Given the description of an element on the screen output the (x, y) to click on. 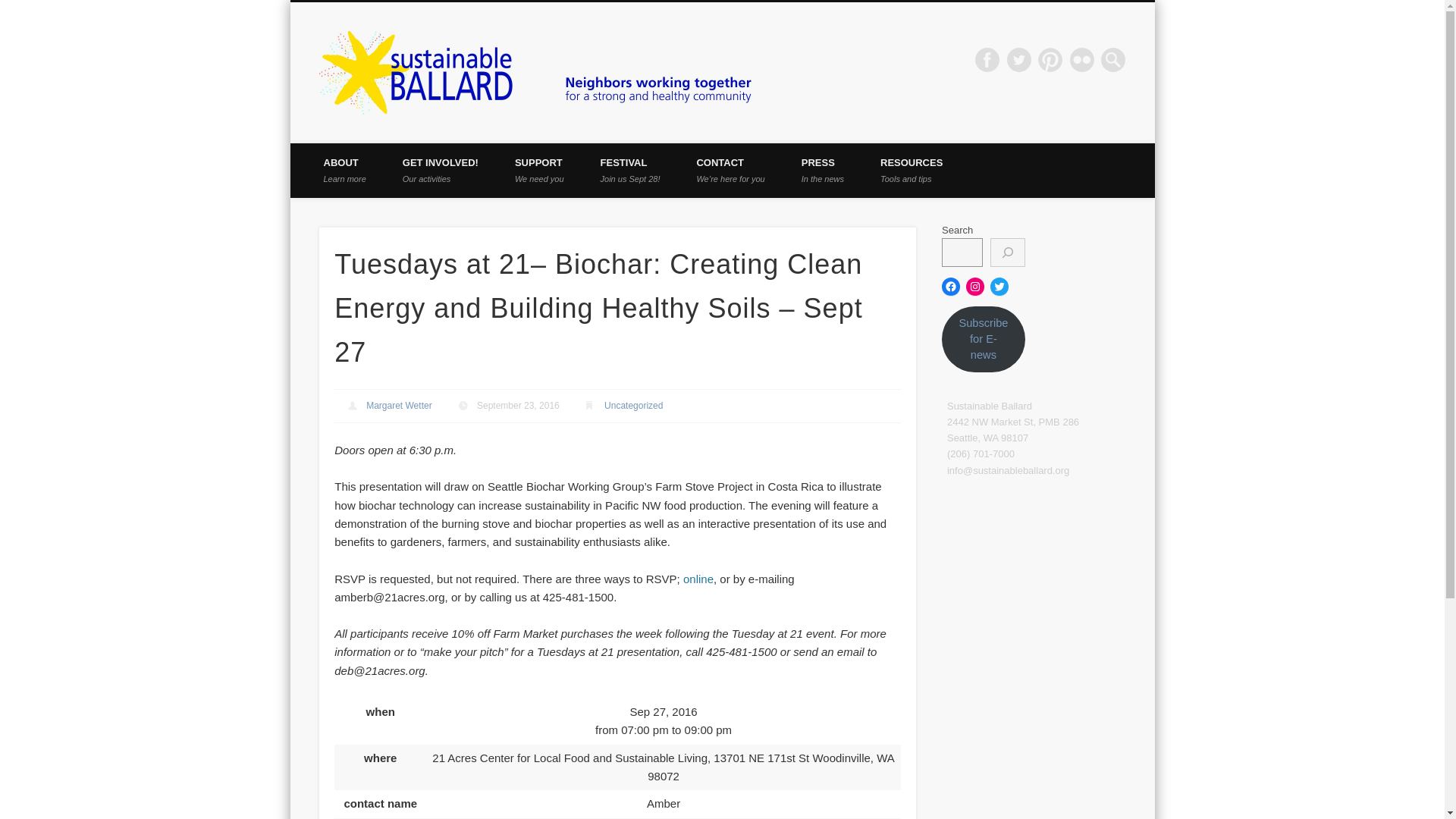
Search (630, 170)
Flickr (11, 7)
Facebook (1082, 59)
Posts by Margaret Wetter (986, 59)
Twitter (344, 170)
Pinterest (910, 170)
sustainable BALLARD (398, 405)
